Given the description of an element on the screen output the (x, y) to click on. 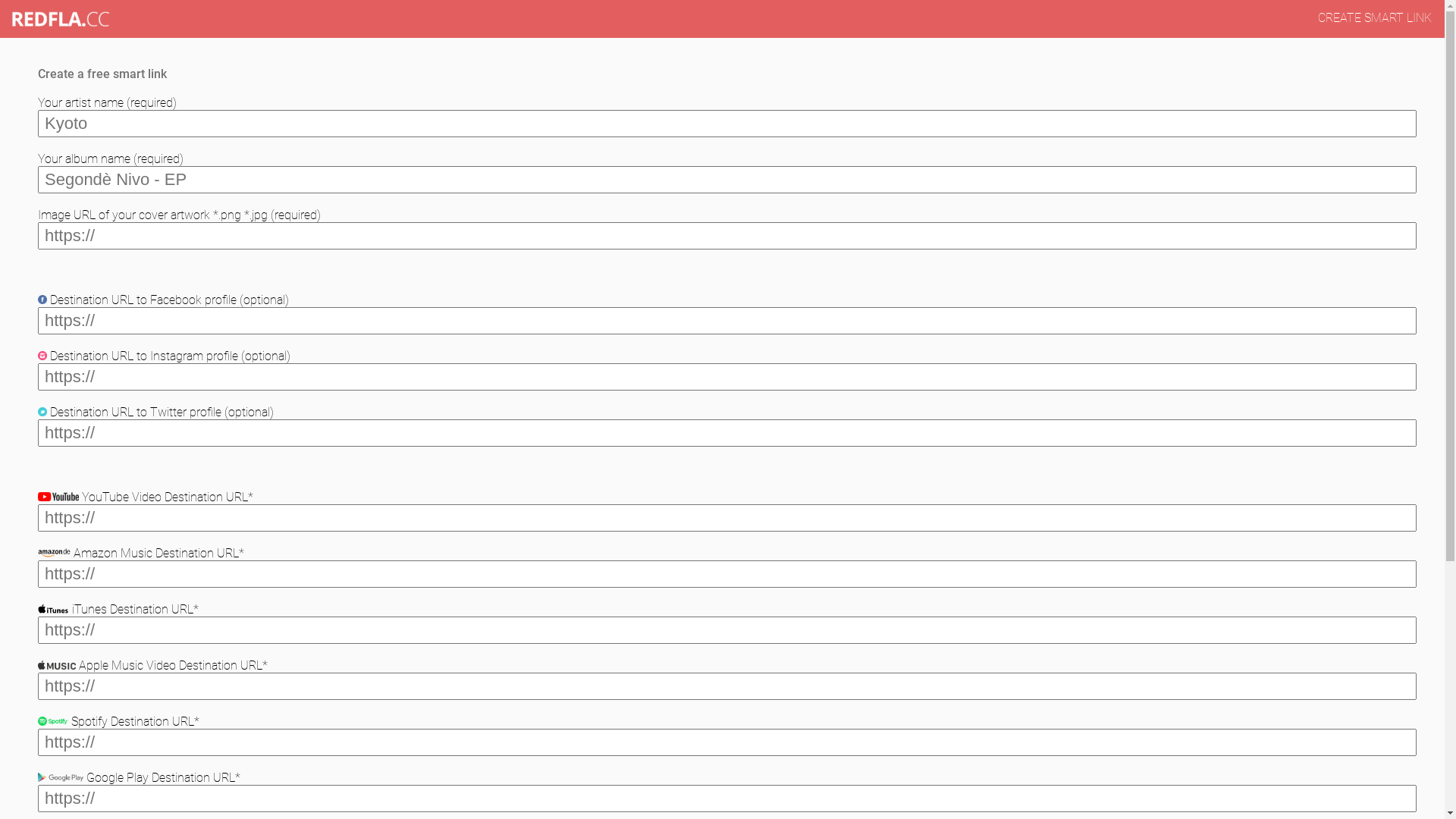
CREATE SMART LINK Element type: text (1374, 17)
